Given the description of an element on the screen output the (x, y) to click on. 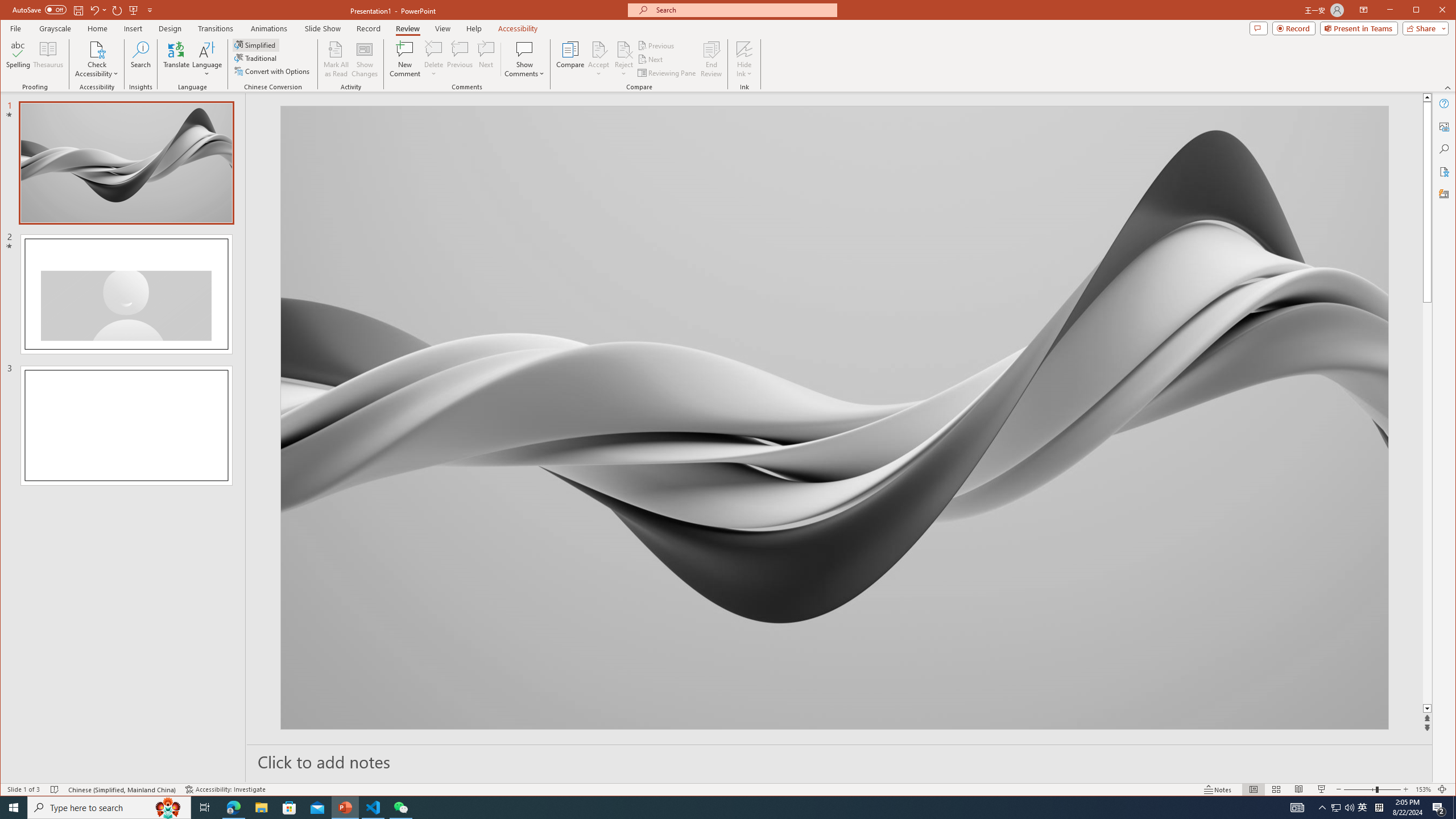
Wavy 3D art (835, 417)
Accept (598, 59)
Thesaurus... (48, 59)
Compare (569, 59)
